Given the description of an element on the screen output the (x, y) to click on. 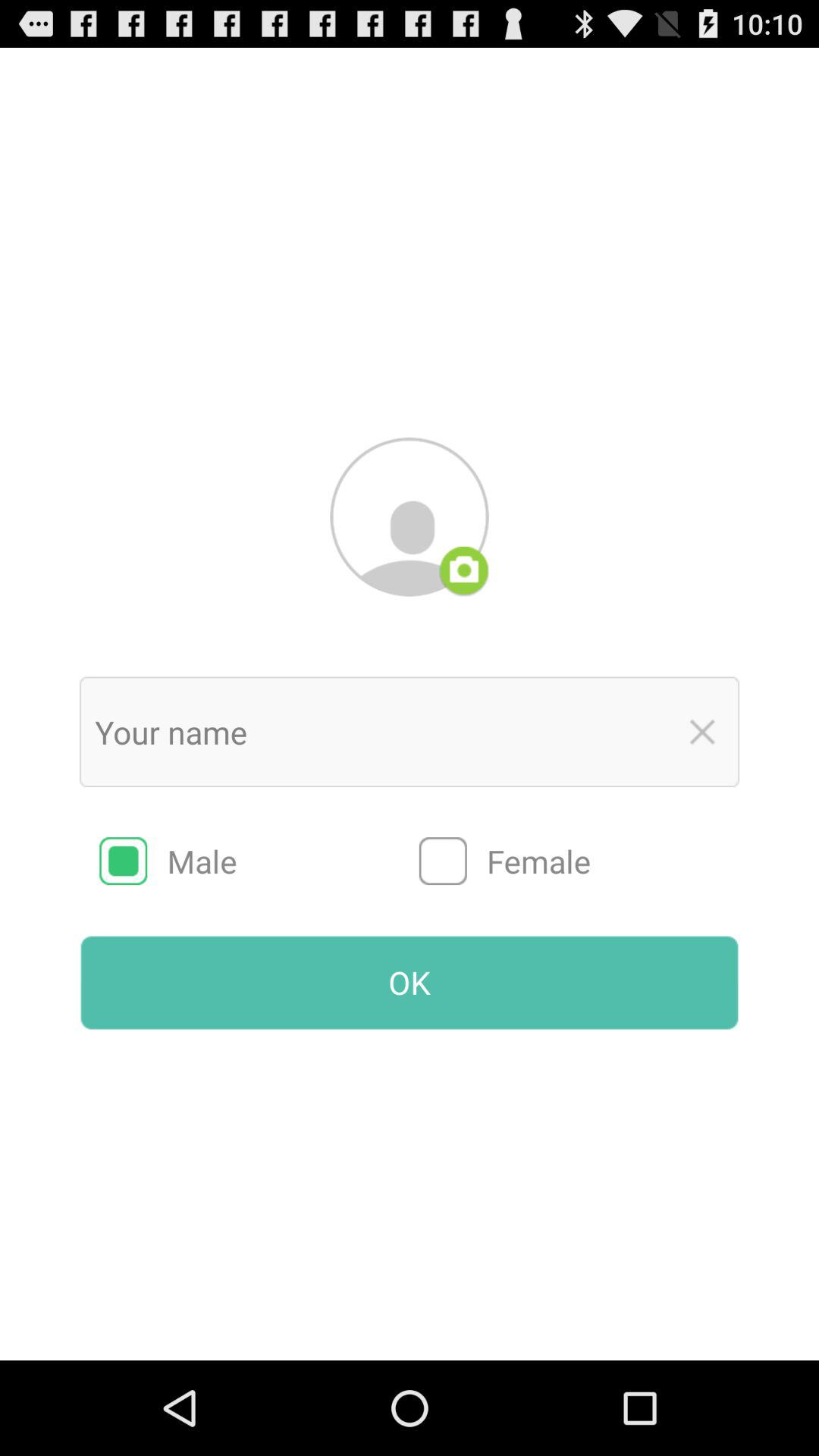
click the icon on the left (259, 860)
